Given the description of an element on the screen output the (x, y) to click on. 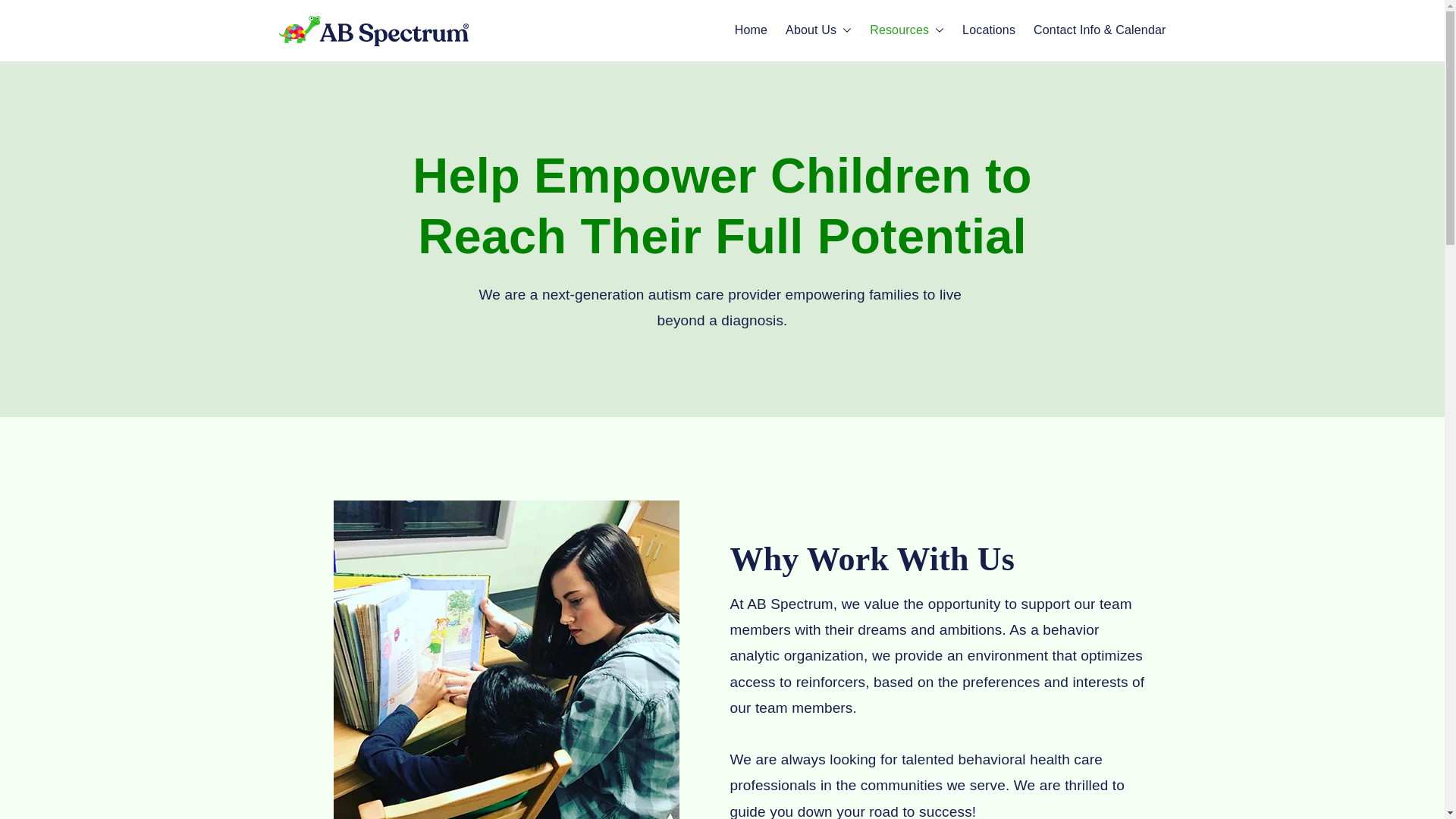
Home (751, 30)
Resources (906, 30)
Locations (988, 30)
About Us (818, 30)
